Given the description of an element on the screen output the (x, y) to click on. 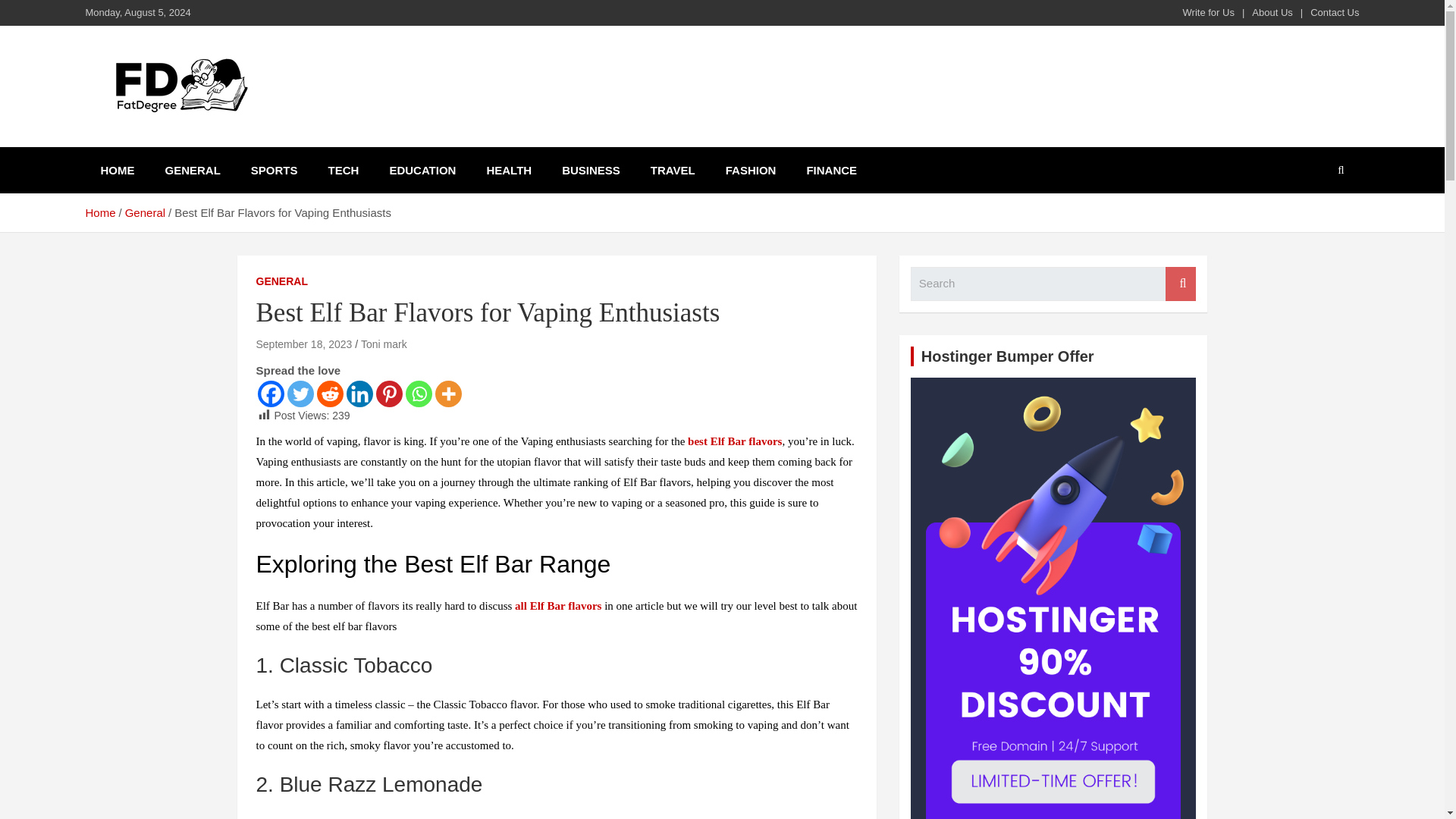
Search (1180, 283)
GENERAL (192, 170)
Best Elf Bar Flavors for Vaping Enthusiasts (304, 344)
General (145, 212)
HEALTH (508, 170)
Twitter (299, 393)
BUSINESS (590, 170)
FASHION (751, 170)
TRAVEL (672, 170)
TECH (343, 170)
More (448, 393)
Reddit (330, 393)
GENERAL (281, 281)
About Us (1272, 12)
HOME (116, 170)
